Given the description of an element on the screen output the (x, y) to click on. 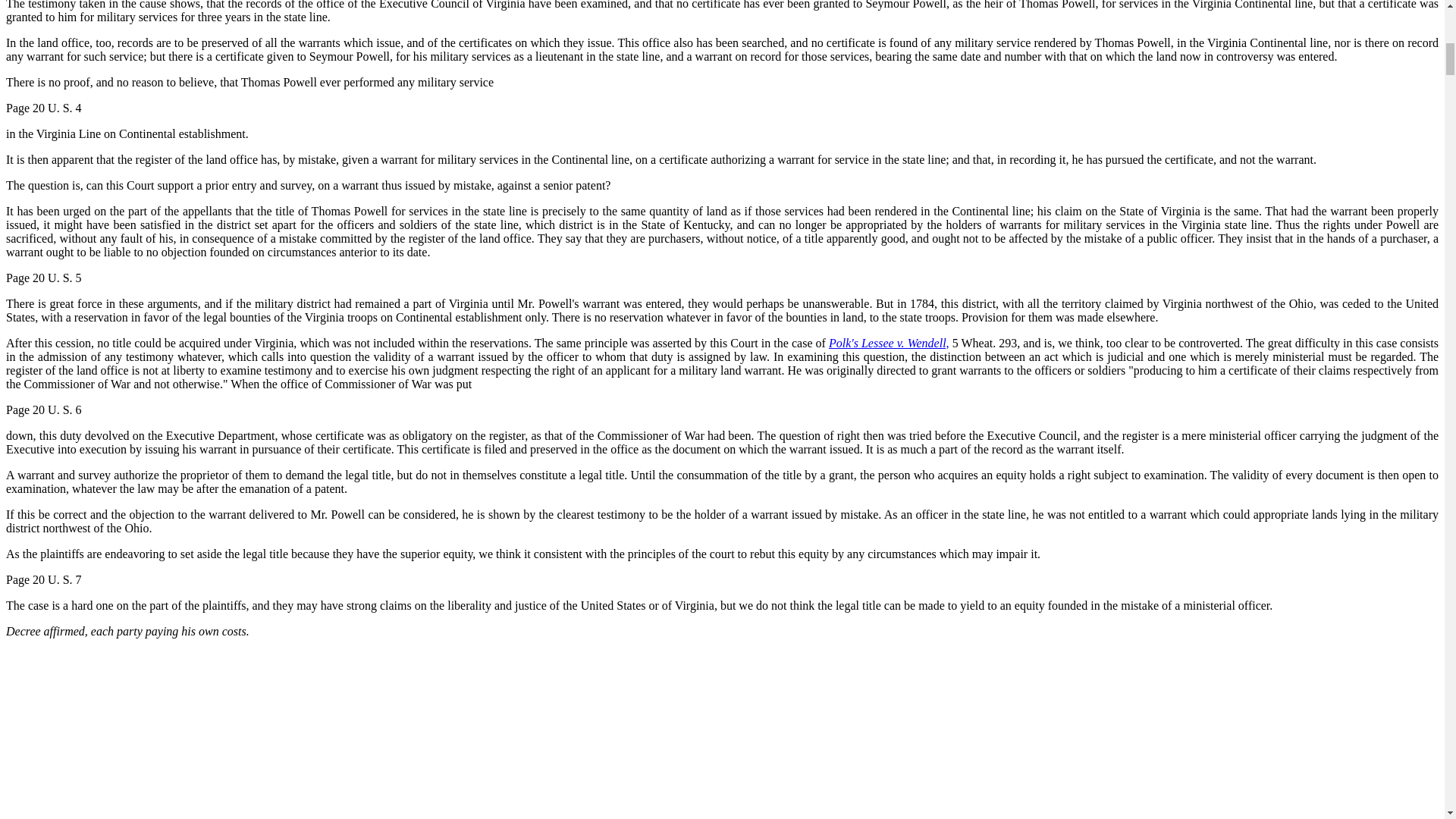
Polk's Lessee v. Wendell, (888, 342)
Page 20 U. S. 5 (43, 277)
Page 20 U. S. 4 (43, 107)
Page 20 U. S. 7 (43, 579)
Page 20 U. S. 6 (43, 409)
